Given the description of an element on the screen output the (x, y) to click on. 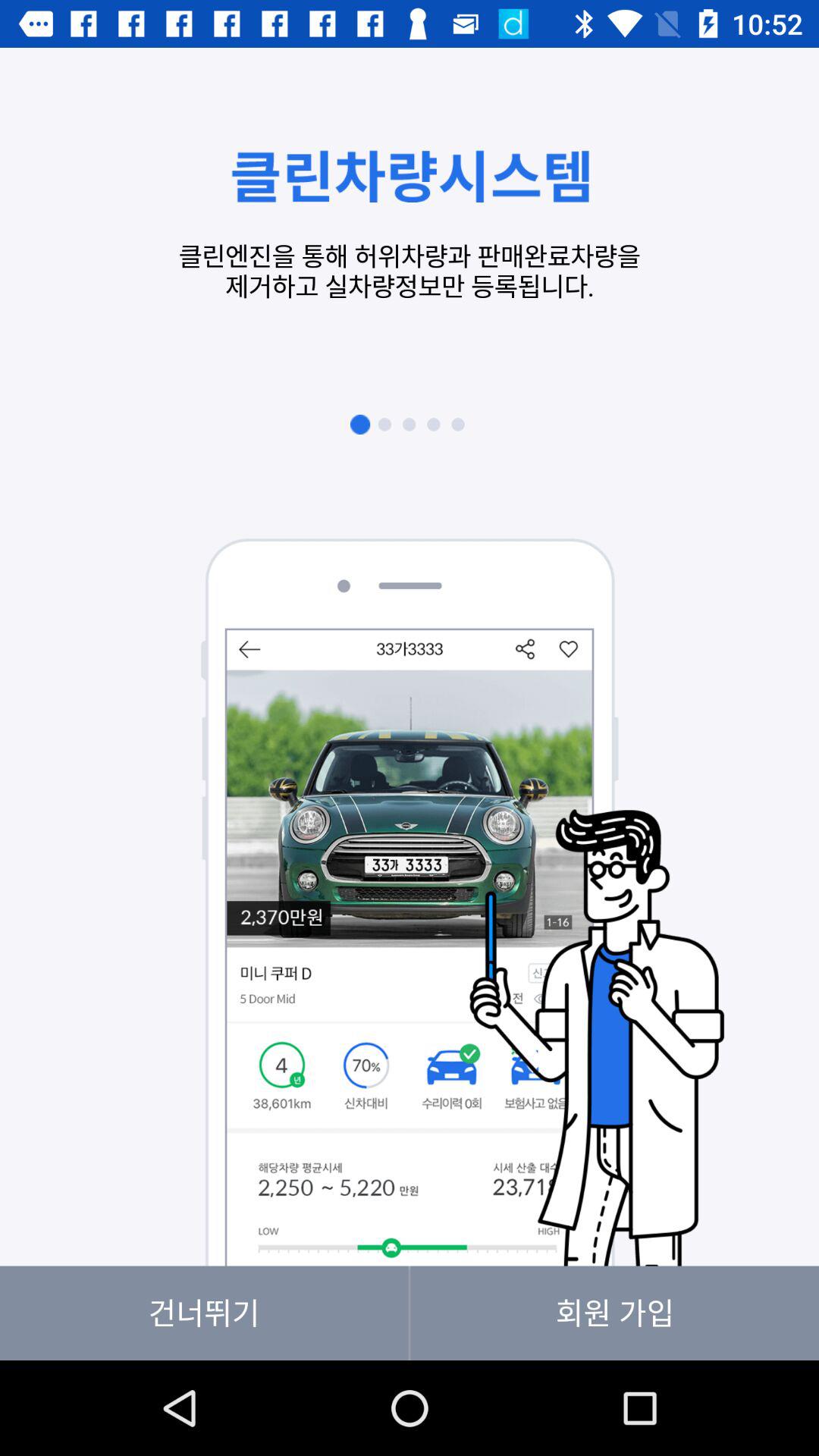
turn on item at the bottom left corner (204, 1313)
